Given the description of an element on the screen output the (x, y) to click on. 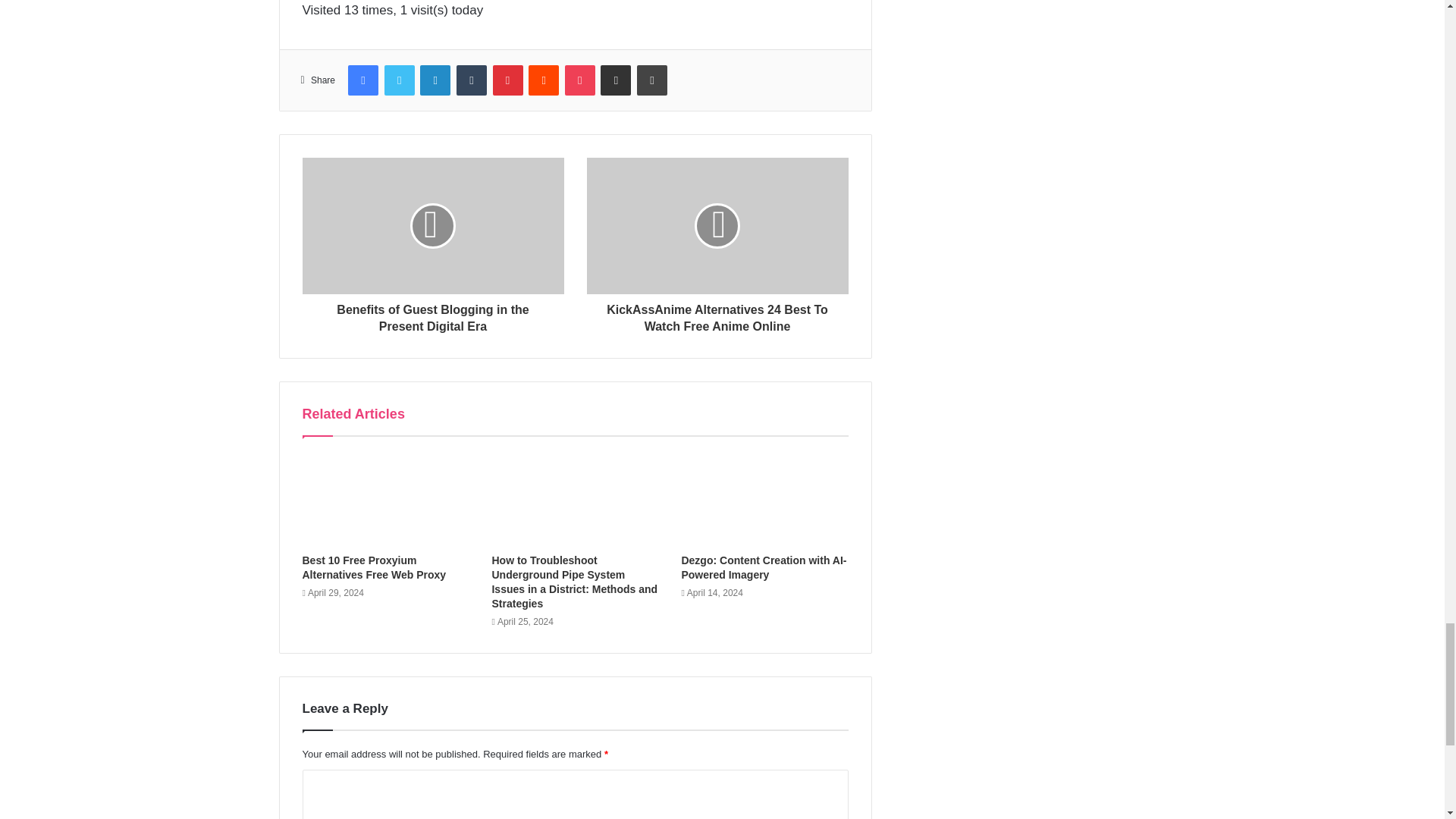
Reddit (543, 80)
Tumblr (471, 80)
Facebook (362, 80)
Pinterest (507, 80)
LinkedIn (434, 80)
Pocket (579, 80)
Twitter (399, 80)
